Given the description of an element on the screen output the (x, y) to click on. 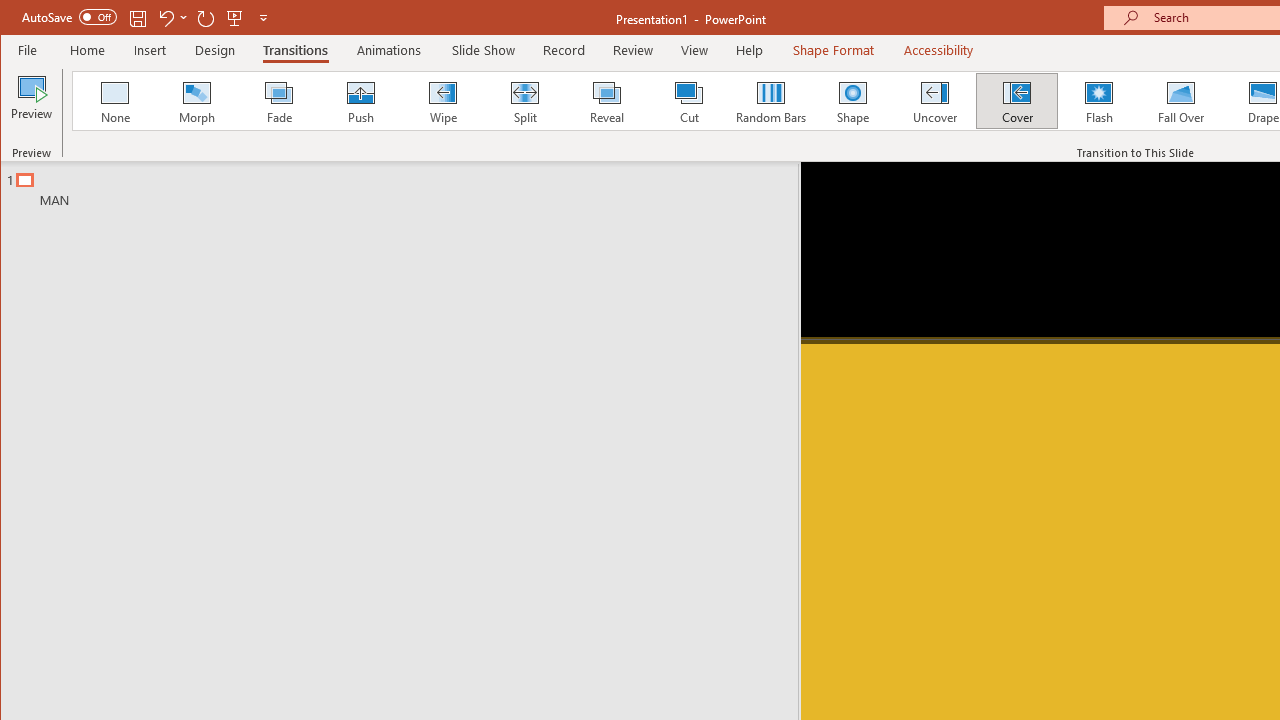
Wipe (442, 100)
Random Bars (770, 100)
Shape (852, 100)
Morph (197, 100)
